Given the description of an element on the screen output the (x, y) to click on. 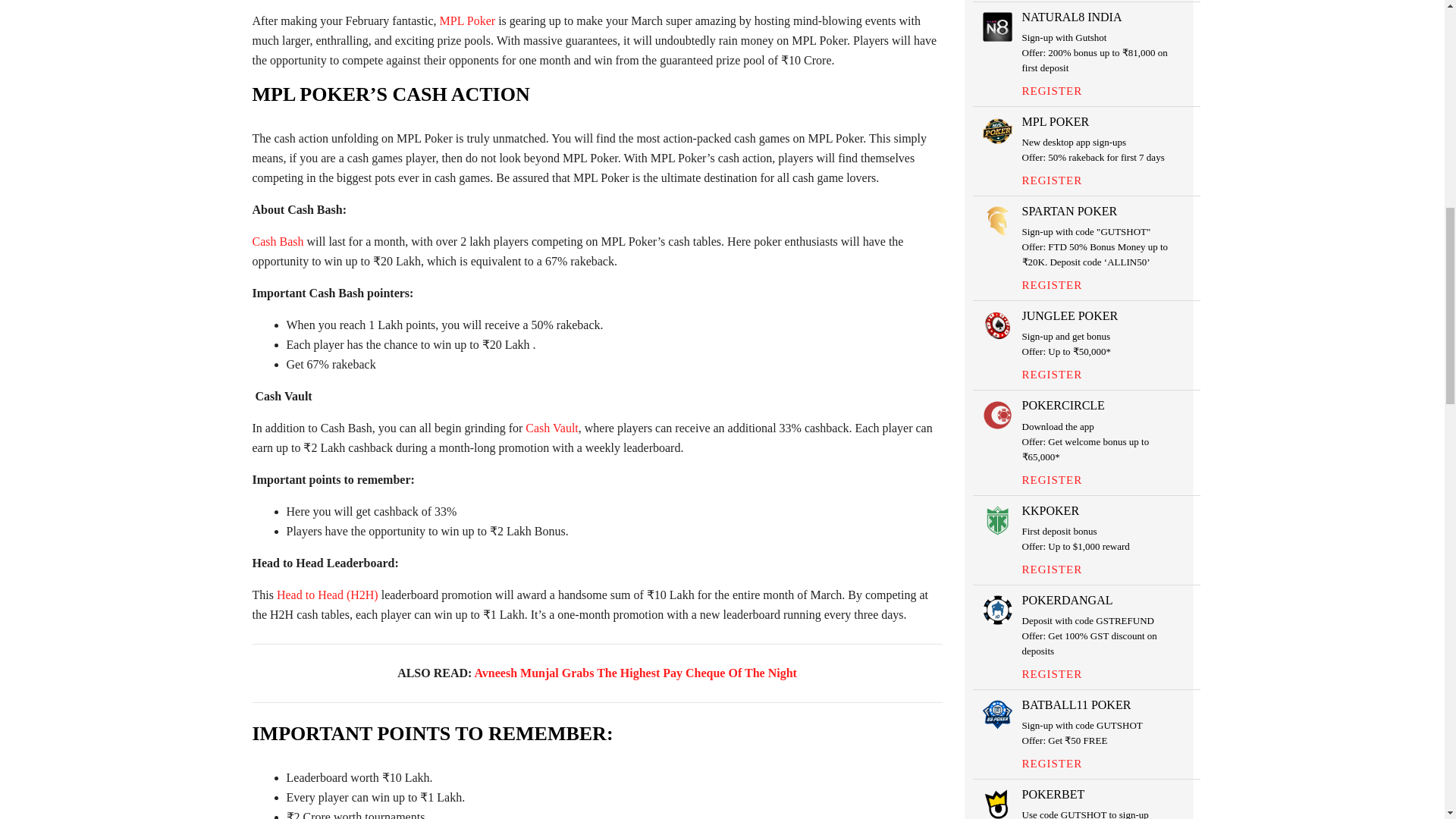
MPL Poker (467, 20)
